Given the description of an element on the screen output the (x, y) to click on. 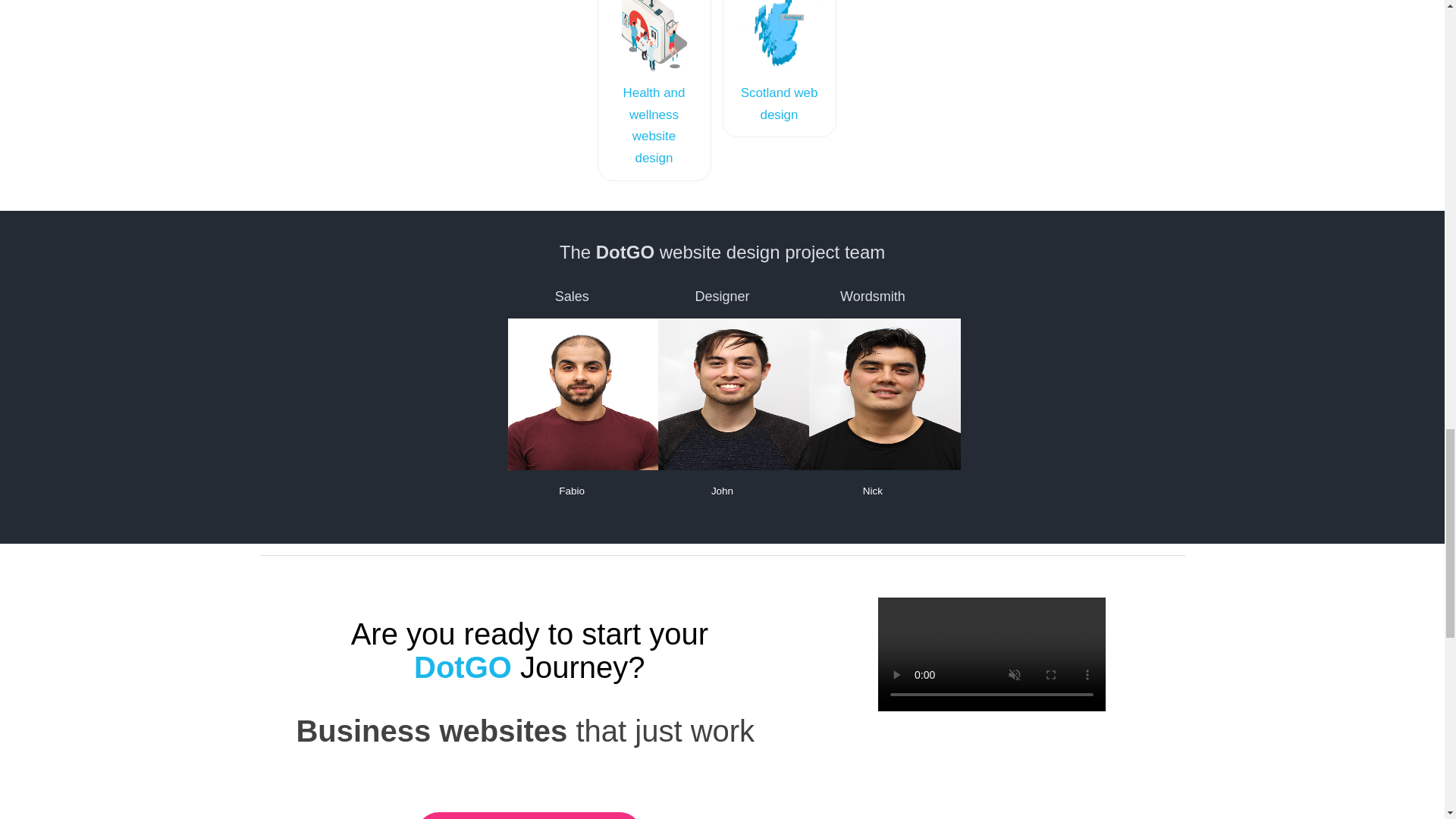
Scotland web design (779, 103)
DotGo salesman Fabio (583, 394)
DotGo designer John (733, 394)
DotGO writer Nick (884, 394)
website design in Scotland (779, 36)
website design for Health and wellness (653, 36)
